Given the description of an element on the screen output the (x, y) to click on. 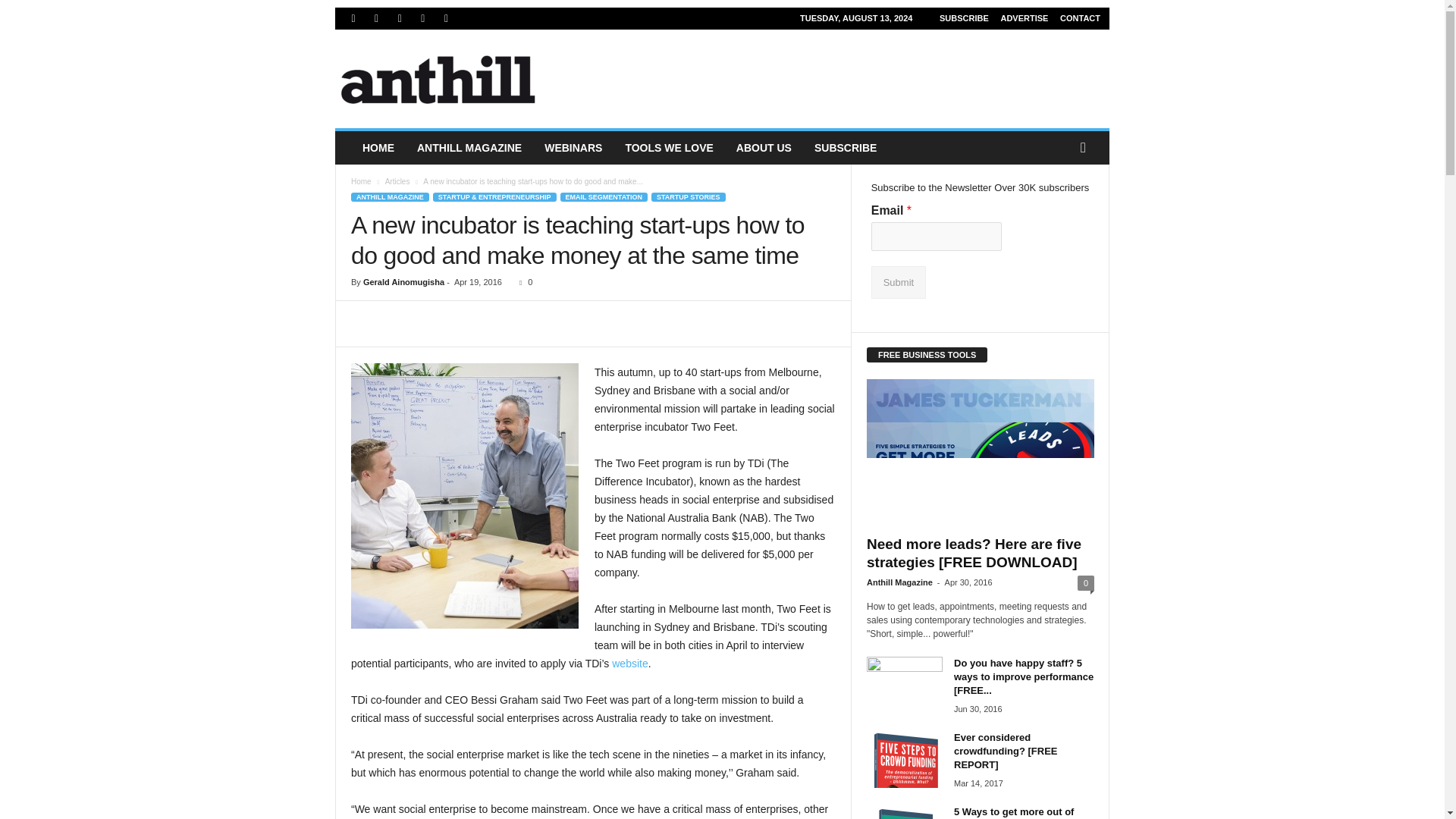
SUBSCRIBE (963, 17)
ADVERTISE (1024, 17)
CONTACT (1079, 17)
View all posts in Articles (397, 181)
